Given the description of an element on the screen output the (x, y) to click on. 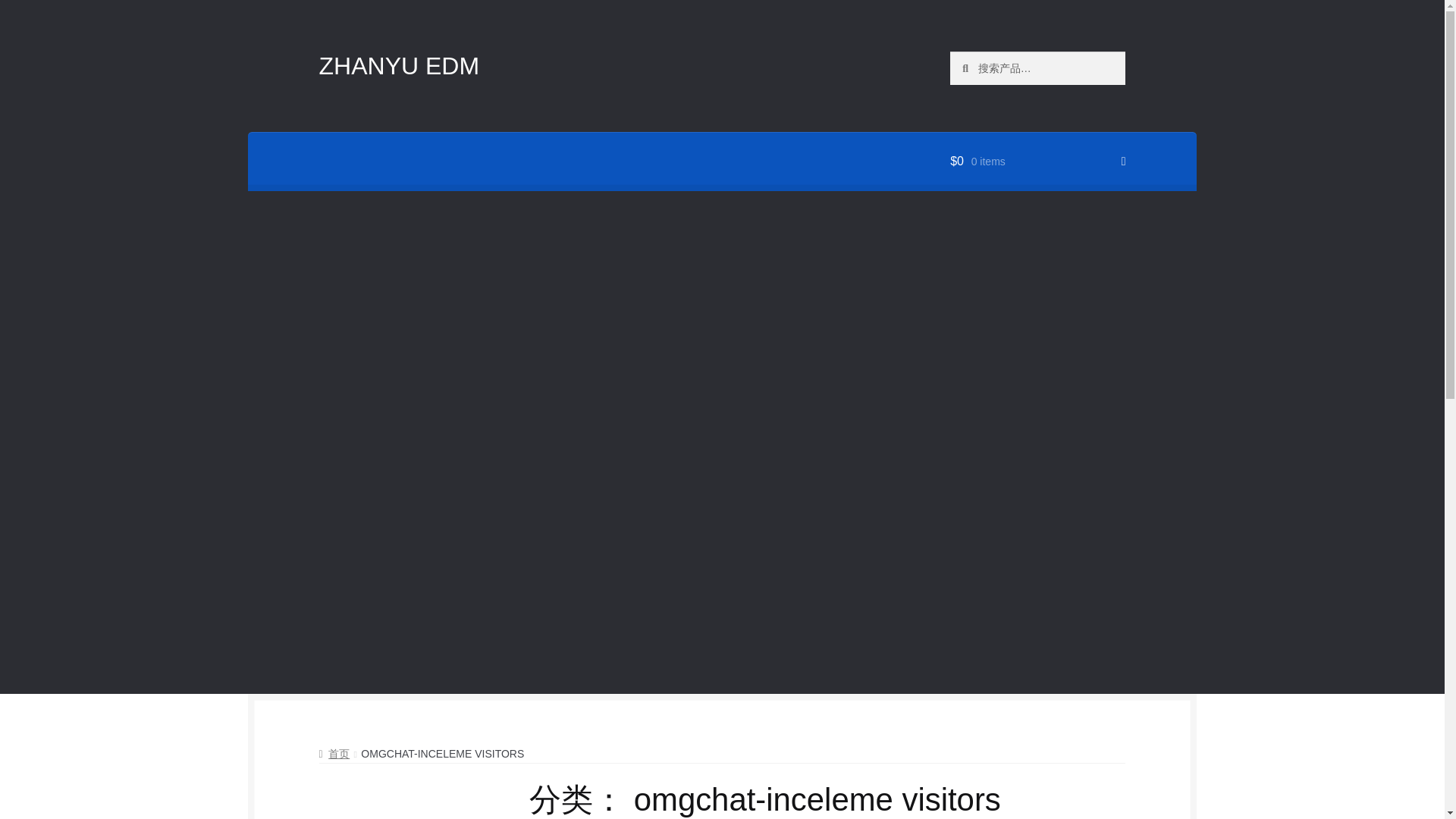
ZHANYU EDM (399, 65)
View your shopping cart (1037, 160)
